Given the description of an element on the screen output the (x, y) to click on. 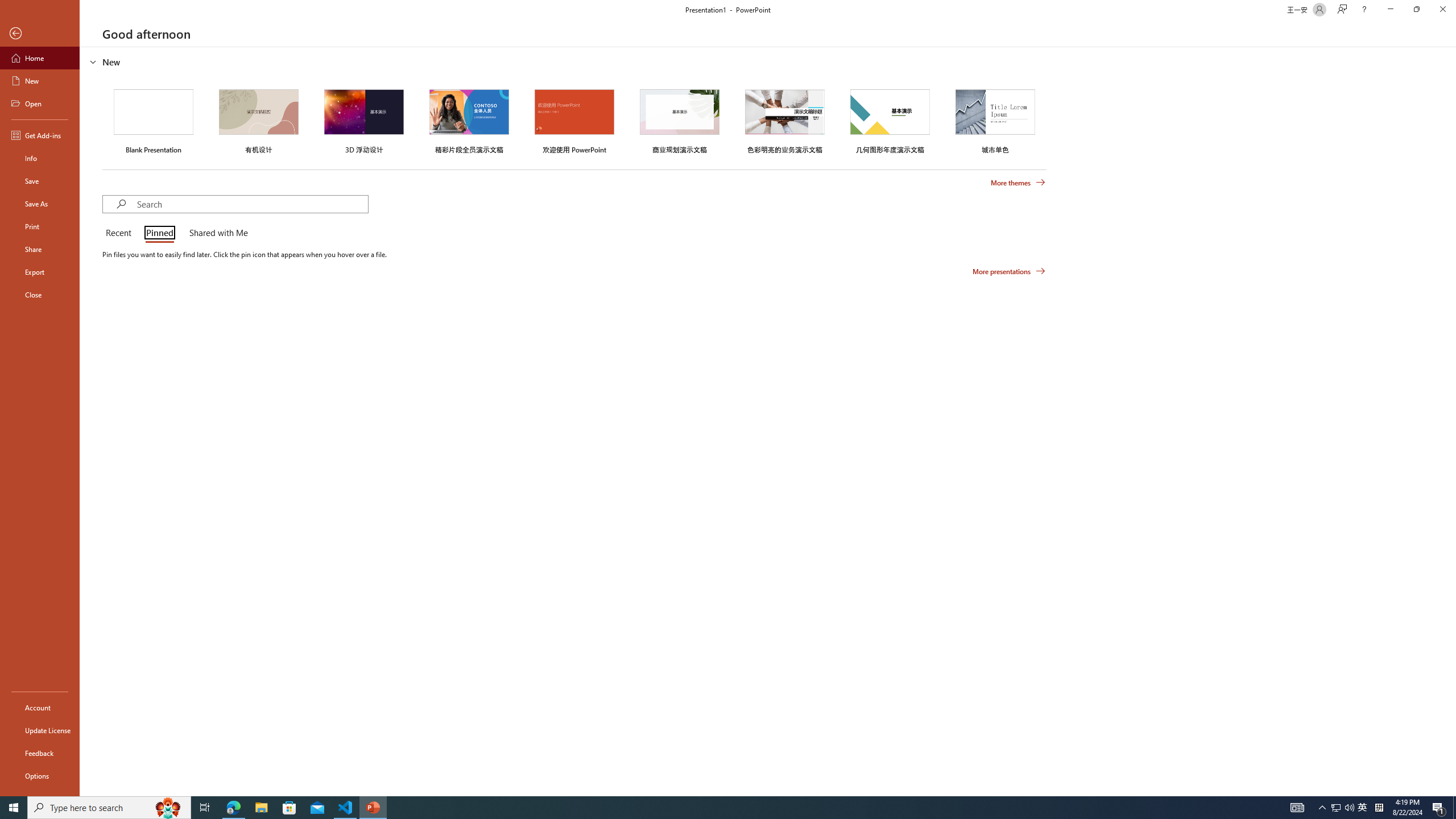
Shared with Me (215, 233)
More themes (1018, 182)
Feedback (40, 753)
Pinned (159, 233)
Search (252, 203)
Options (40, 775)
